Given the description of an element on the screen output the (x, y) to click on. 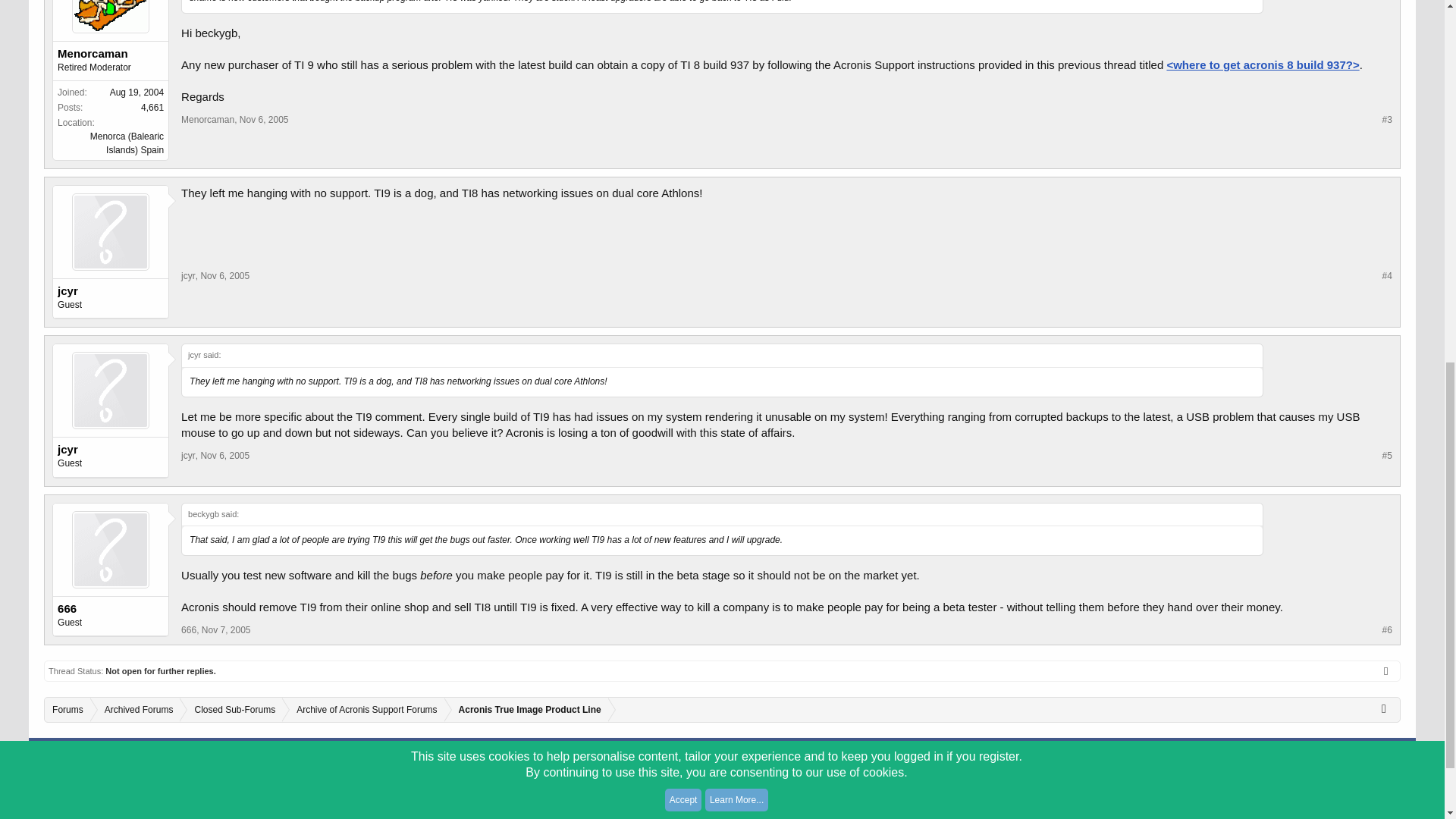
Nov 6, 2005 (264, 119)
jcyr (187, 455)
Permalink (224, 276)
jcyr (110, 449)
jcyr (110, 290)
Permalink (264, 119)
Menorcaman (110, 53)
Permalink (224, 455)
Nov 6, 2005 (224, 276)
Permalink (226, 629)
